Given the description of an element on the screen output the (x, y) to click on. 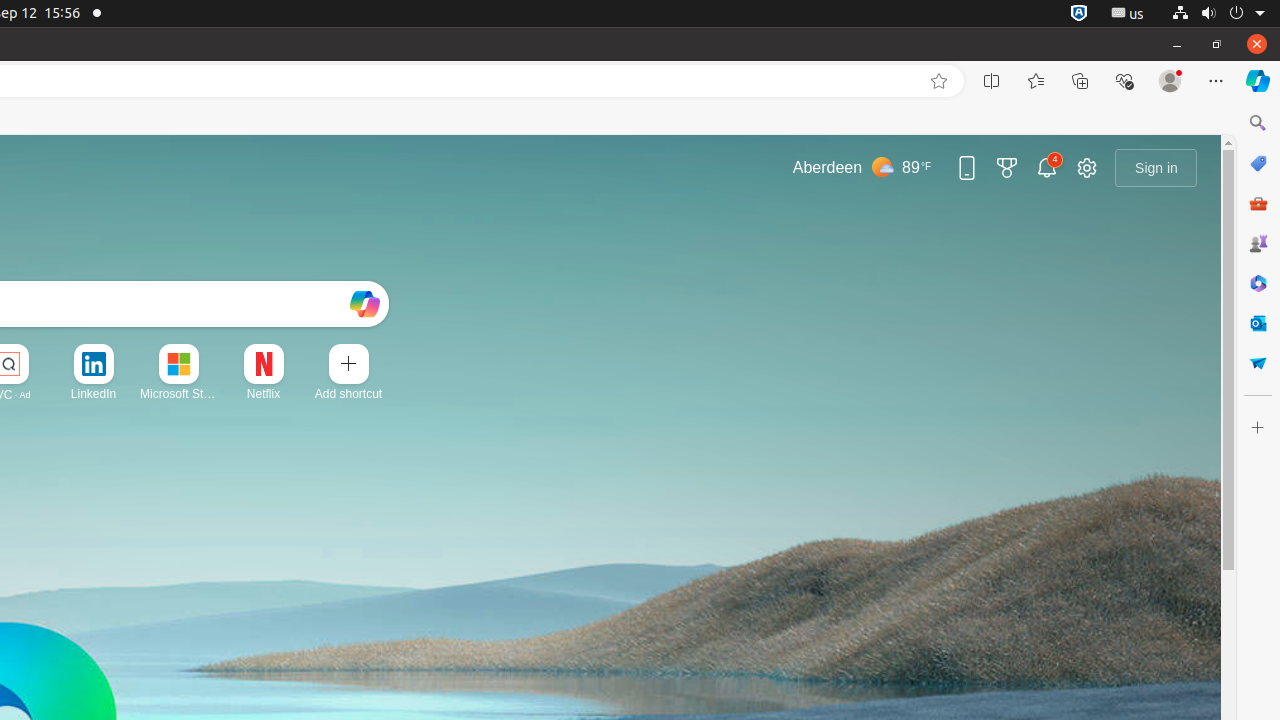
Games Element type: push-button (1258, 243)
LinkedIn Element type: link (93, 393)
Settings and more (Alt+F) Element type: push-button (1216, 81)
Microsoft 365 Element type: push-button (1258, 283)
Add a site Element type: link (348, 393)
